Given the description of an element on the screen output the (x, y) to click on. 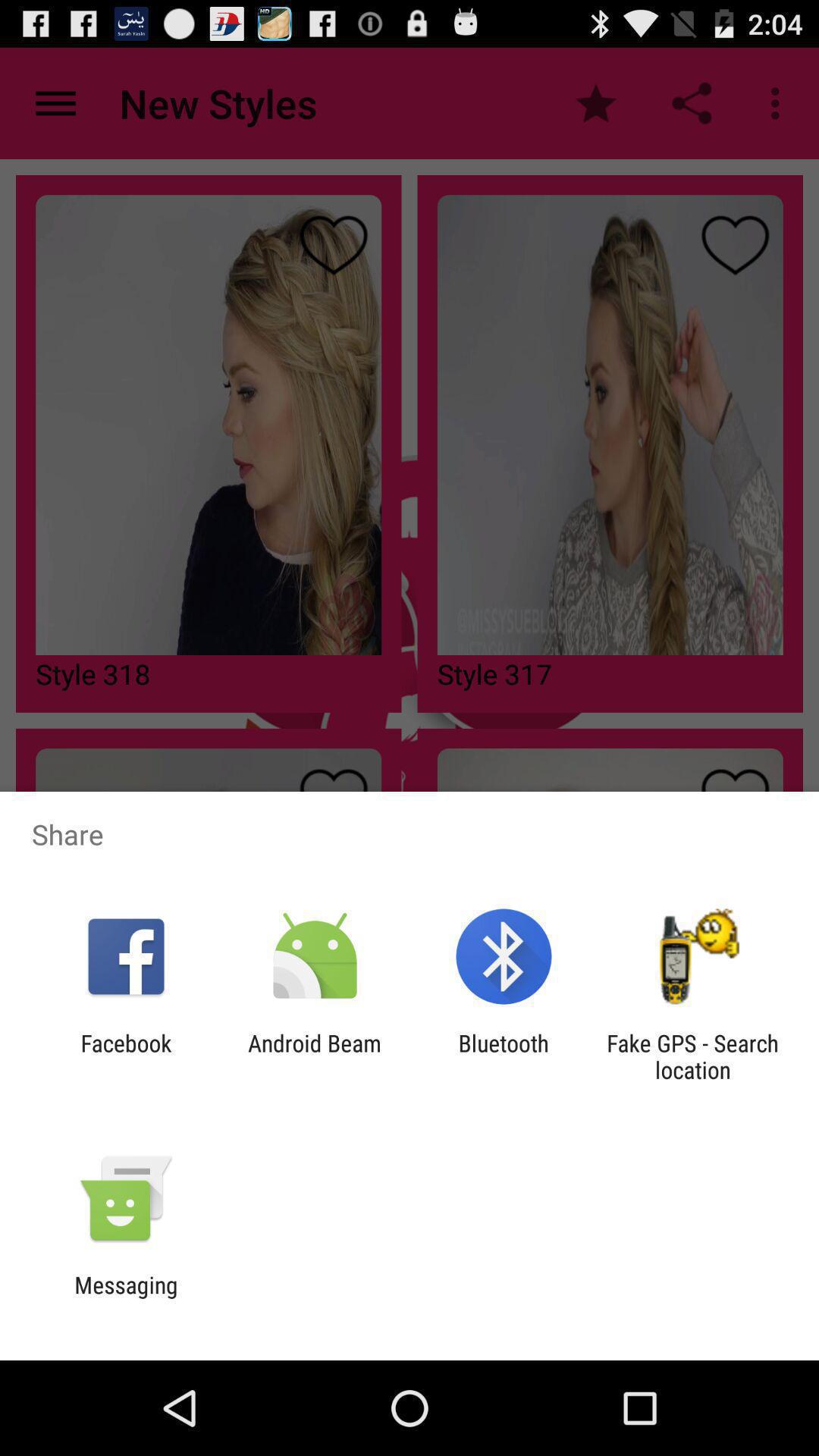
flip to the bluetooth (503, 1056)
